Given the description of an element on the screen output the (x, y) to click on. 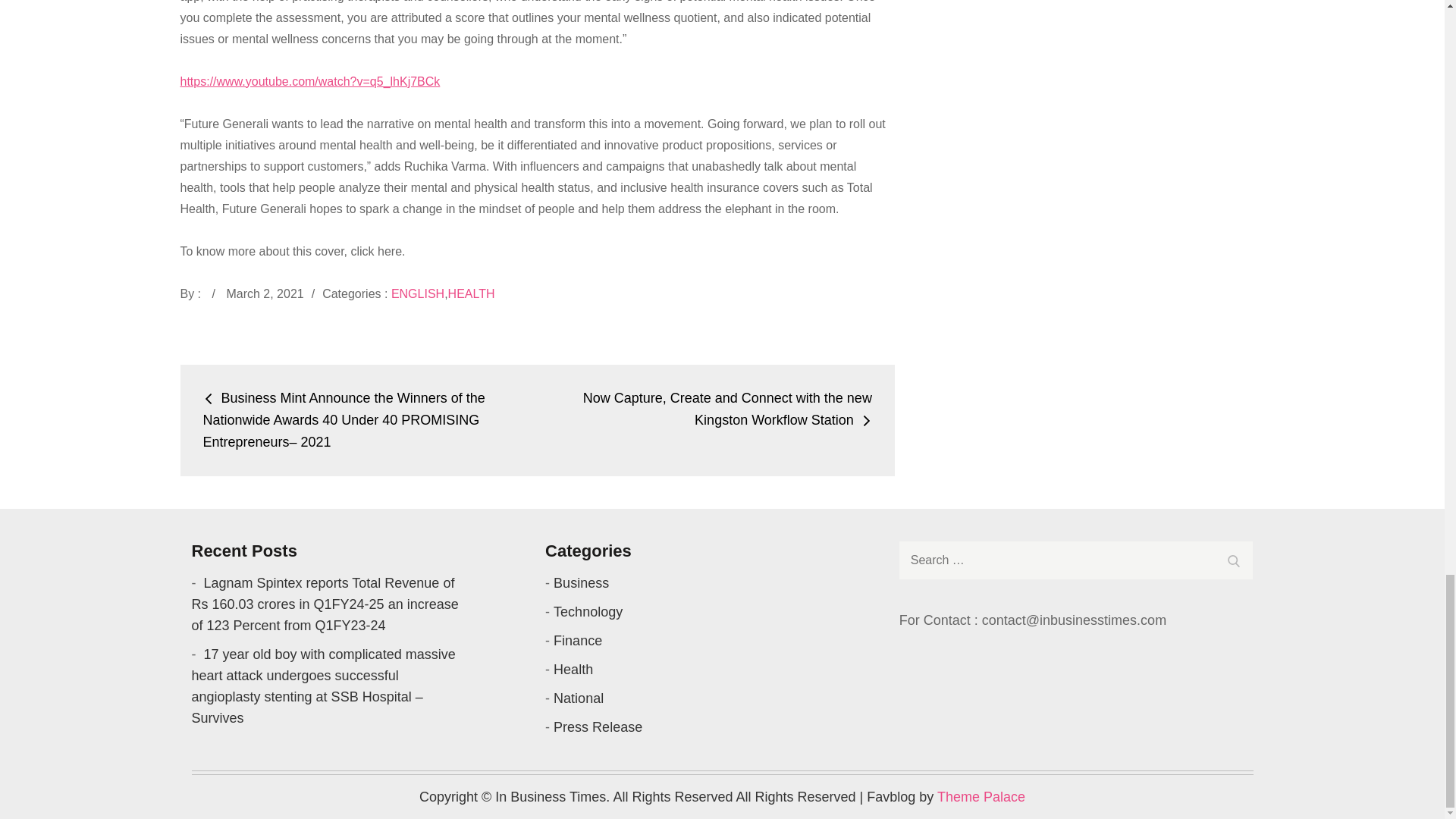
March 2, 2021 (263, 293)
HEALTH (471, 293)
Business (580, 582)
Technology (588, 611)
ENGLISH (417, 293)
